Given the description of an element on the screen output the (x, y) to click on. 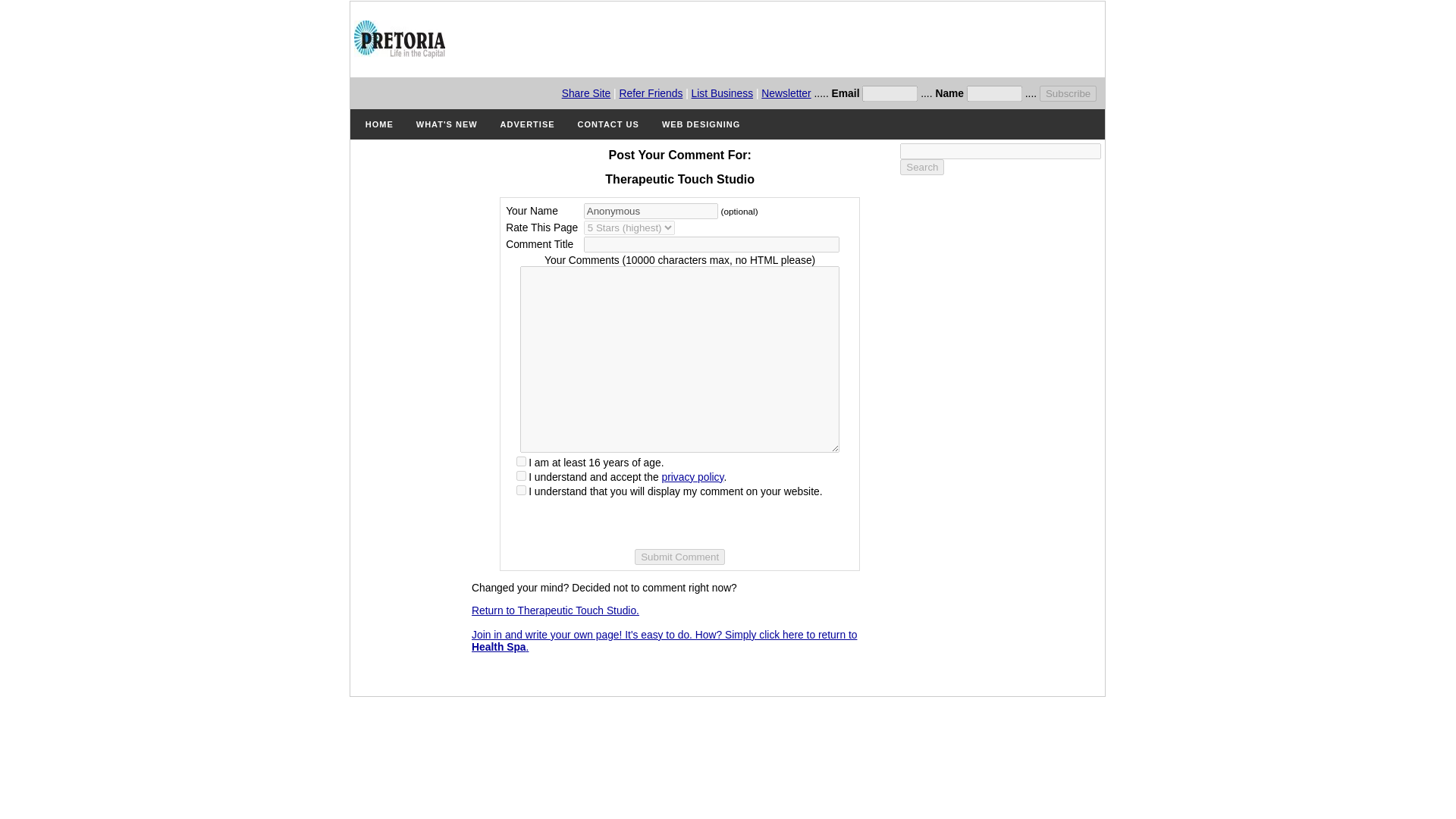
Submit Comment (679, 556)
Refer Friends (651, 92)
Submit Comment (679, 556)
Search (921, 166)
Anonymous (650, 211)
1 (520, 490)
Share Site (586, 92)
Subscribe (1067, 93)
WEB DESIGNING (700, 124)
CONTACT US (608, 124)
ADVERTISE (527, 124)
Advertisement (783, 38)
1 (520, 475)
Newsletter (785, 92)
privacy policy (692, 476)
